Given the description of an element on the screen output the (x, y) to click on. 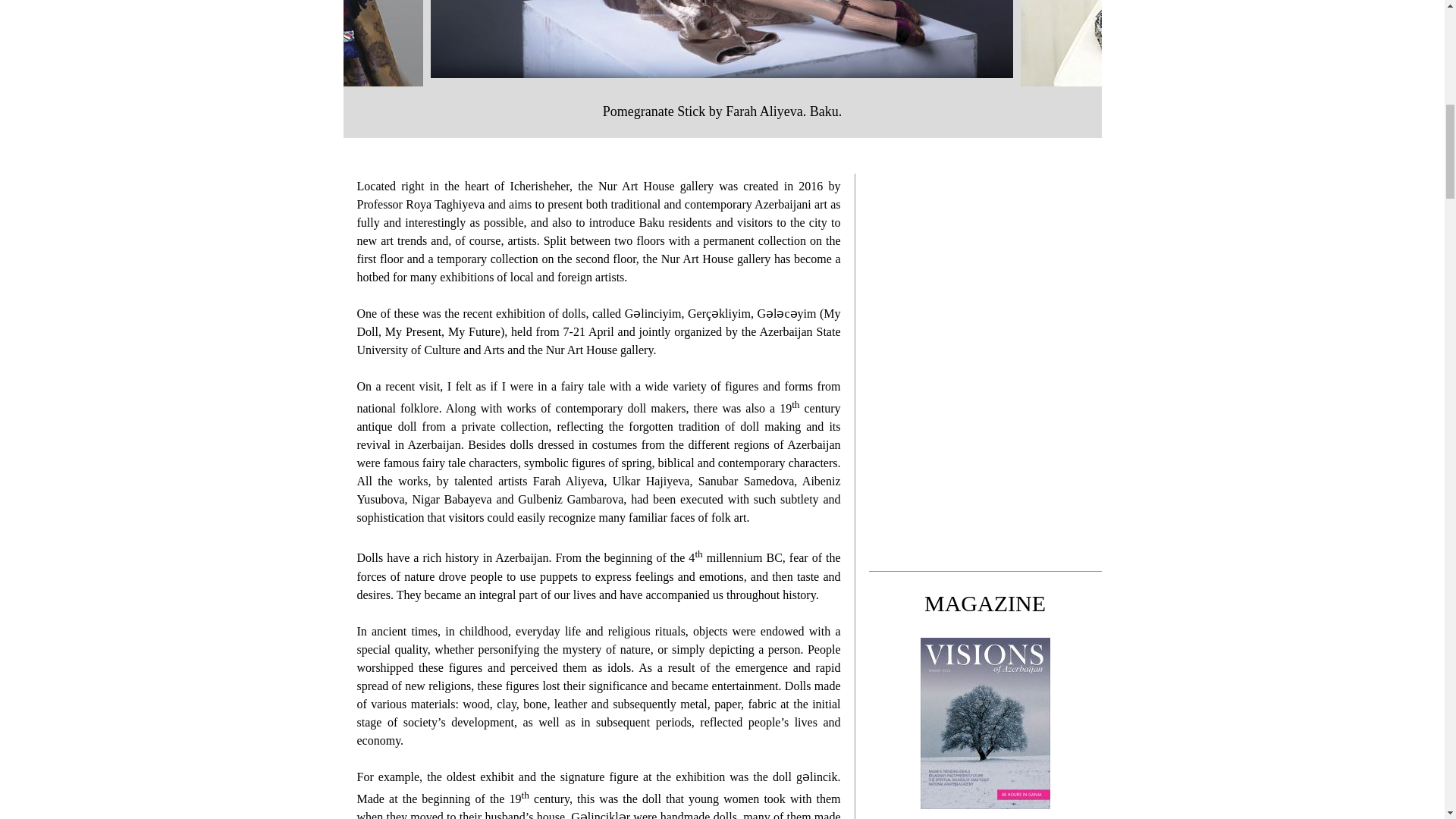
3rd party ad content (985, 363)
Winter 2019 (984, 810)
